Given the description of an element on the screen output the (x, y) to click on. 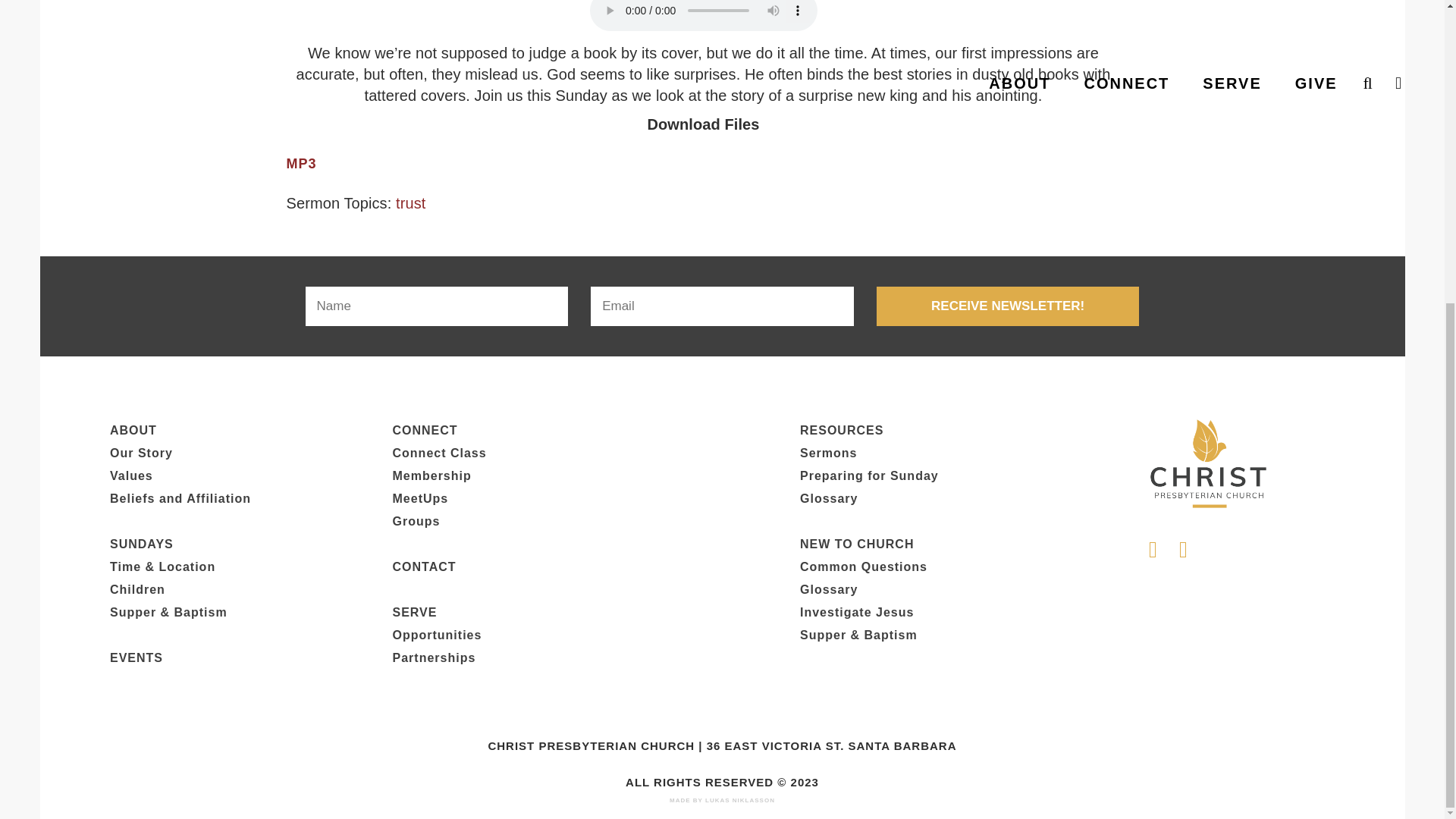
trust (410, 202)
RECEIVE NEWSLETTER! (1008, 305)
MP3 (301, 163)
ABOUT (133, 430)
Our Story (141, 452)
